Given the description of an element on the screen output the (x, y) to click on. 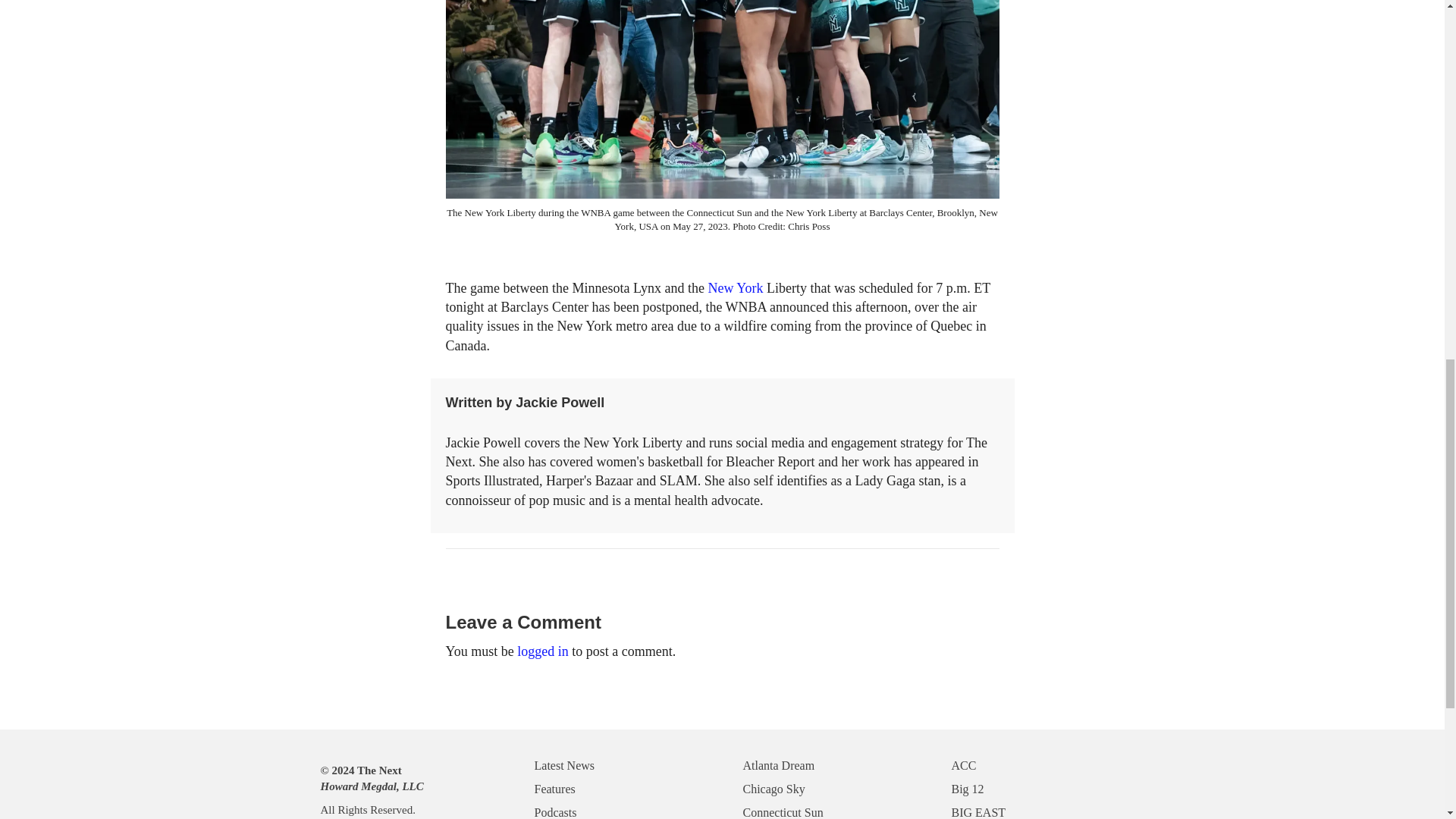
Connecticut Sun vs. New York Liberty (721, 99)
